Given the description of an element on the screen output the (x, y) to click on. 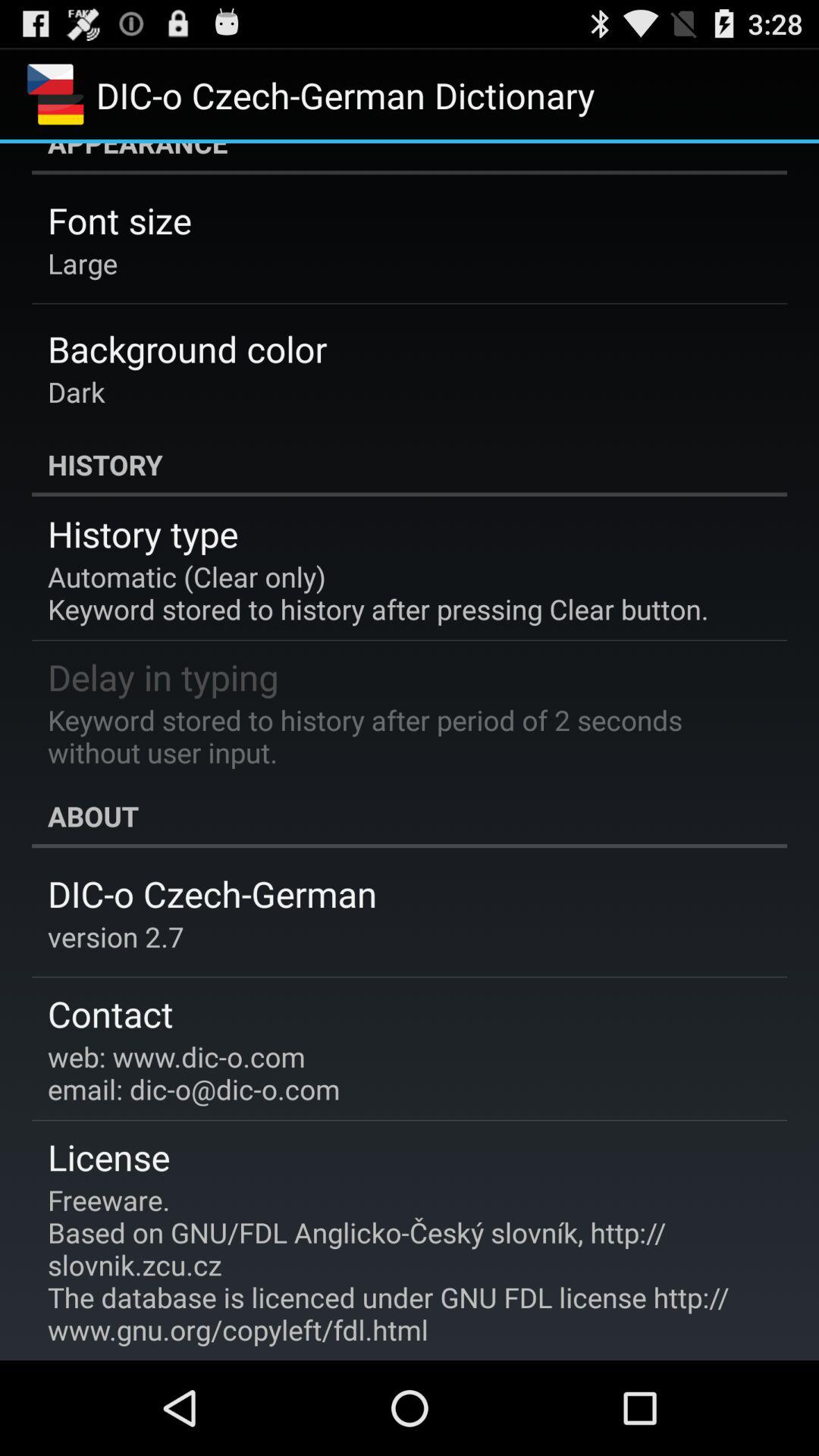
select dark app (76, 391)
